Given the description of an element on the screen output the (x, y) to click on. 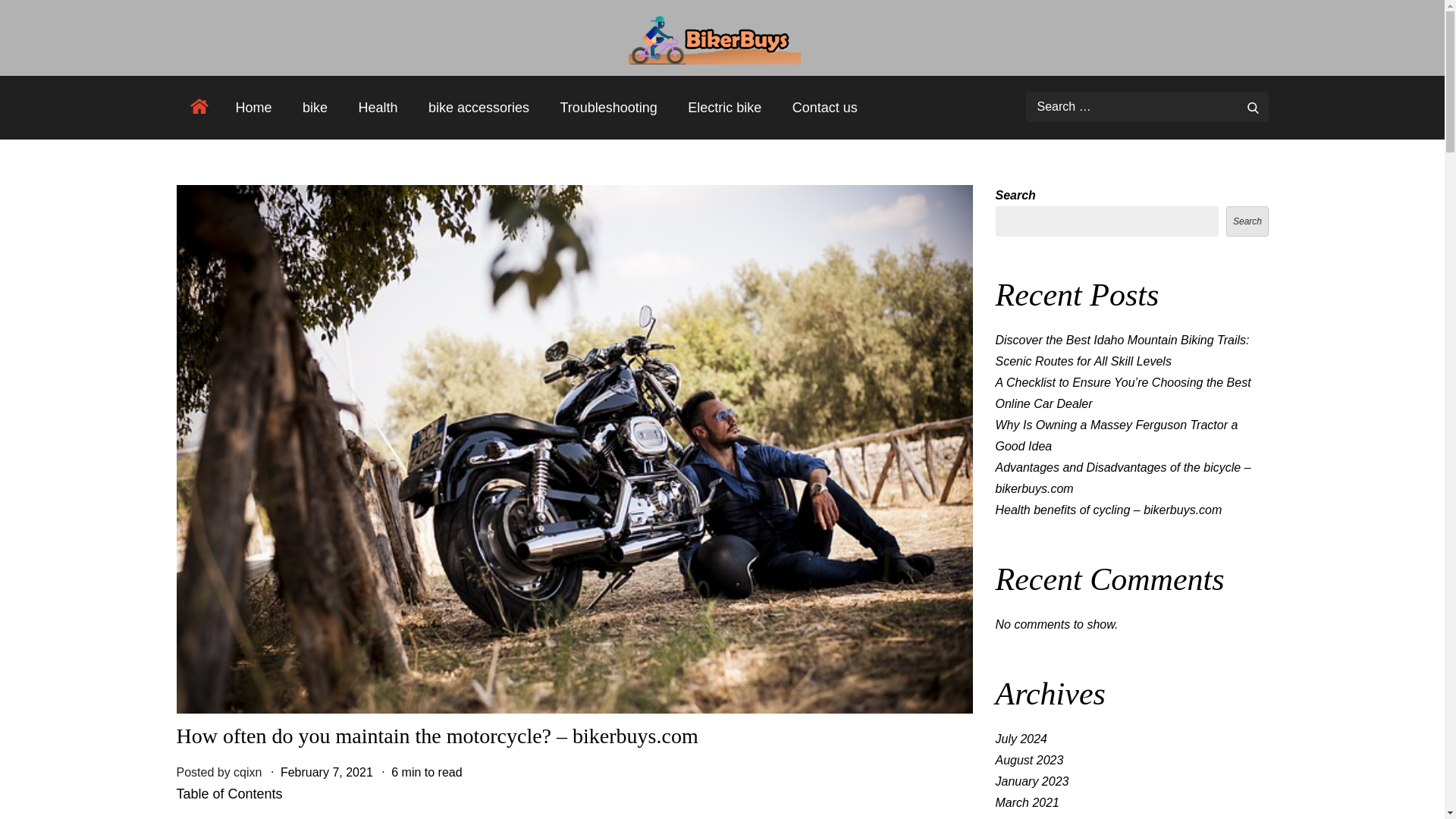
Contact us (824, 106)
Troubleshooting (607, 106)
Search (1252, 106)
Electric bike (724, 106)
February 7, 2021 (326, 771)
bike (314, 106)
Home (253, 106)
bike accessories (478, 106)
cqixn (247, 771)
Health (376, 106)
